Given the description of an element on the screen output the (x, y) to click on. 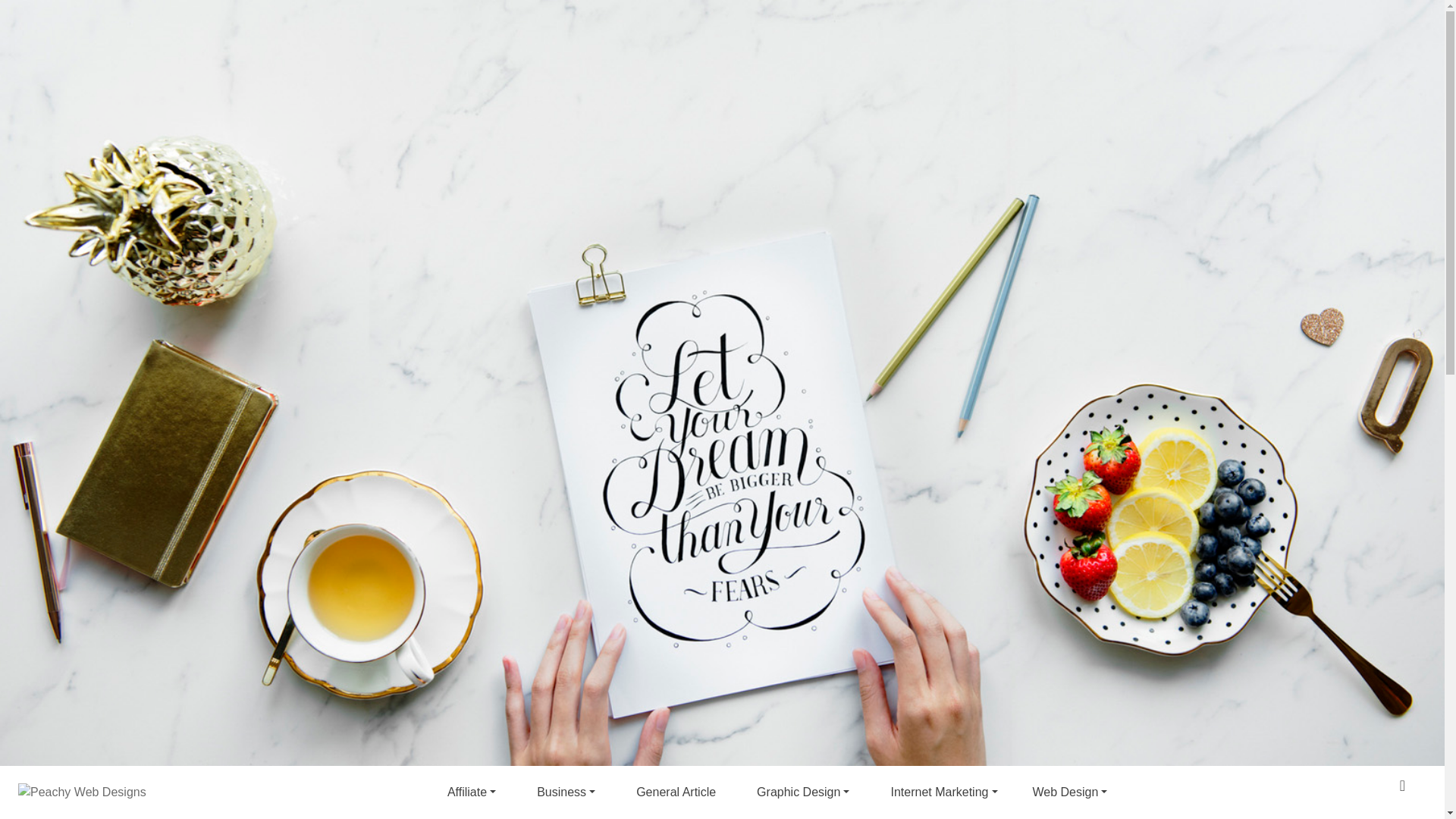
Internet Marketing (944, 792)
Web Design (1069, 792)
Affiliate (470, 792)
Peachy Web Designs (404, 68)
Affiliate (470, 792)
Graphic Design (802, 792)
Graphic Design (802, 792)
General Article (675, 792)
Business (566, 792)
Business (566, 792)
General Article (675, 792)
